Given the description of an element on the screen output the (x, y) to click on. 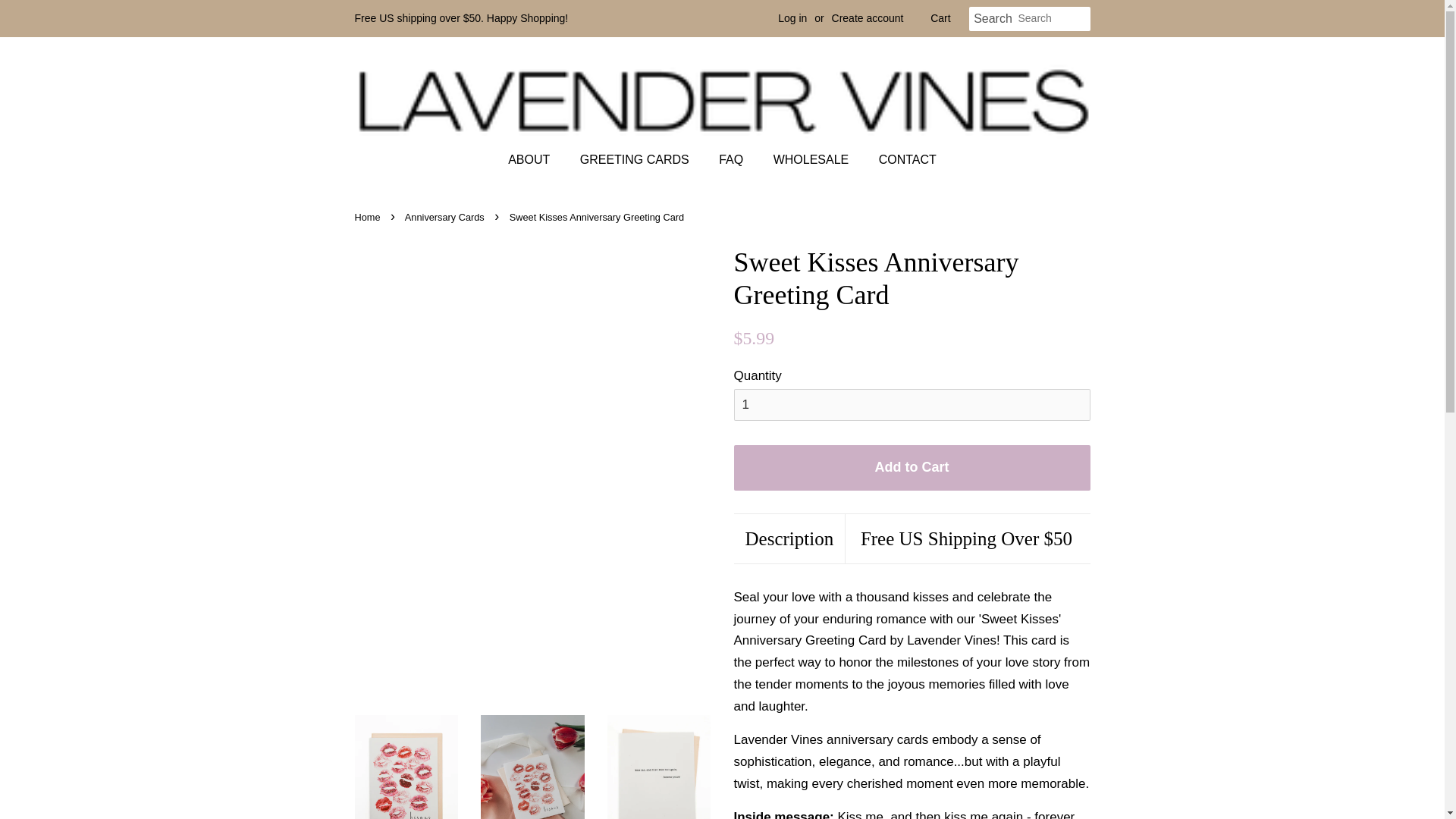
1 (911, 404)
Search (993, 18)
Back to the frontpage (369, 216)
Create account (867, 18)
Cart (940, 18)
GREETING CARDS (636, 159)
ABOUT (536, 159)
Log in (791, 18)
